Given the description of an element on the screen output the (x, y) to click on. 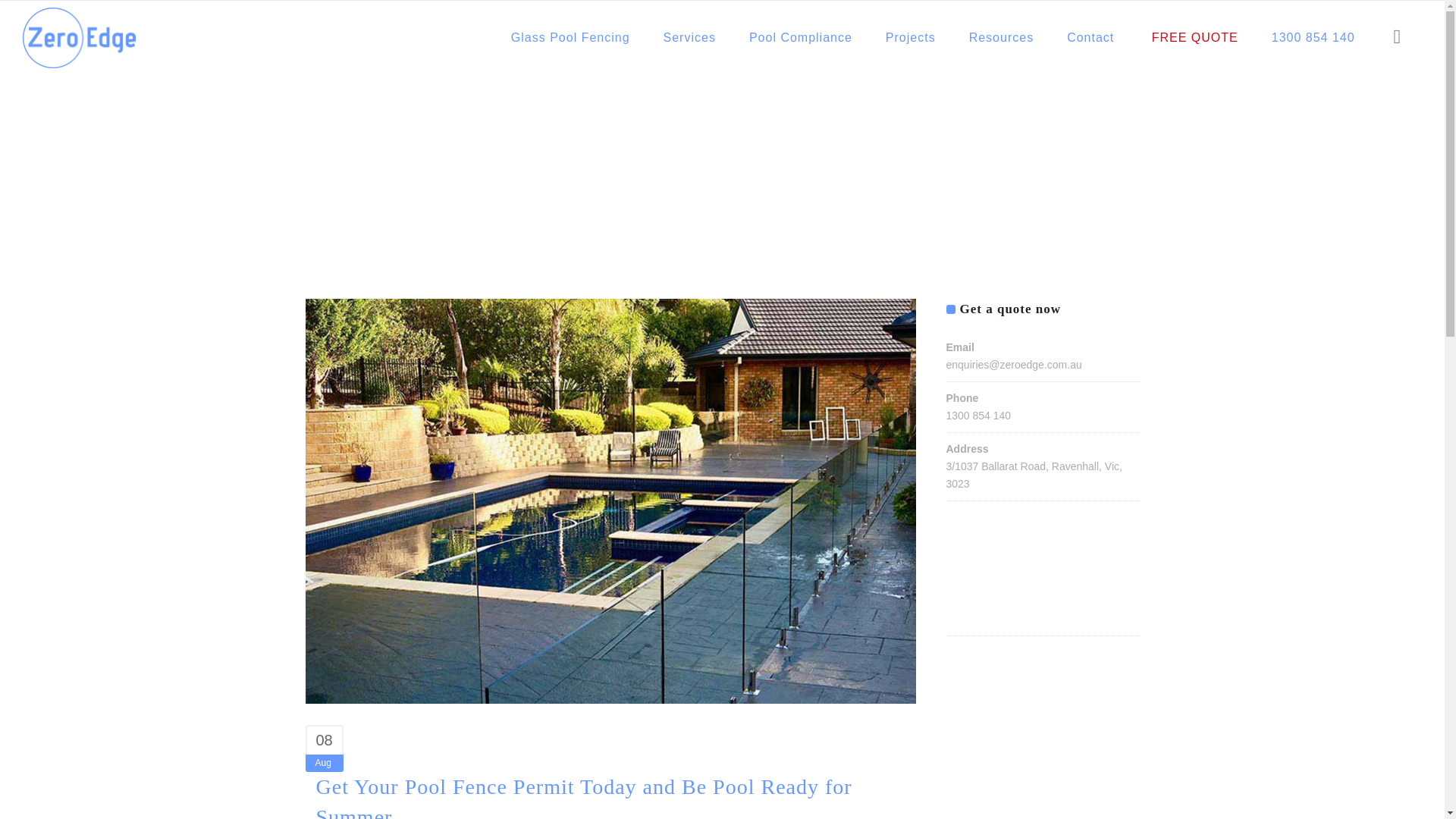
1300 854 140 (1313, 38)
Glass Pool Fencing (570, 38)
Resources (1000, 38)
Projects (910, 38)
Services (688, 38)
Pool Compliance (800, 38)
FREE QUOTE (1192, 38)
Contact (1090, 38)
